Given the description of an element on the screen output the (x, y) to click on. 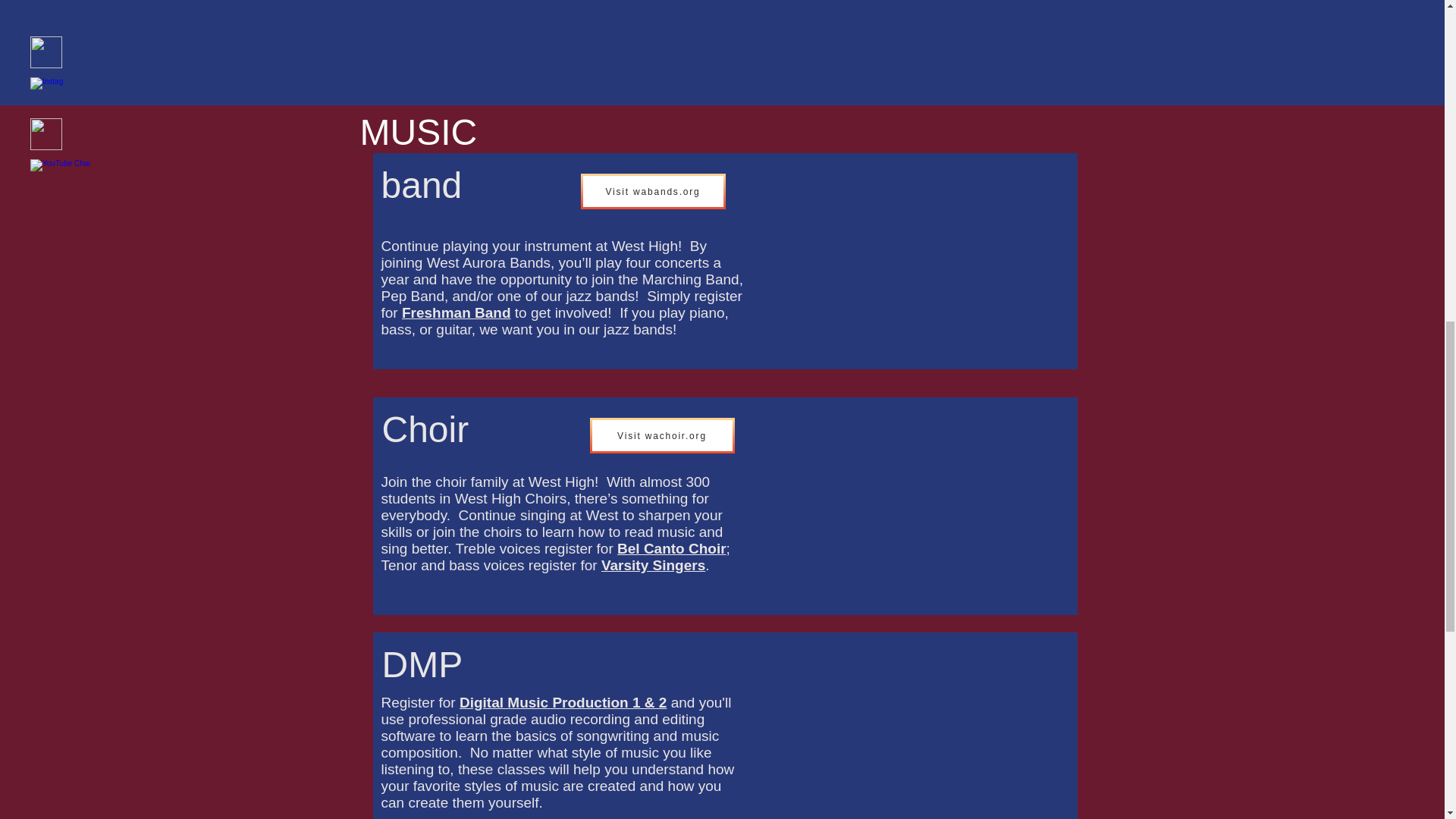
Visit wabands.org (652, 191)
Visit wachoir.org (662, 435)
